Given the description of an element on the screen output the (x, y) to click on. 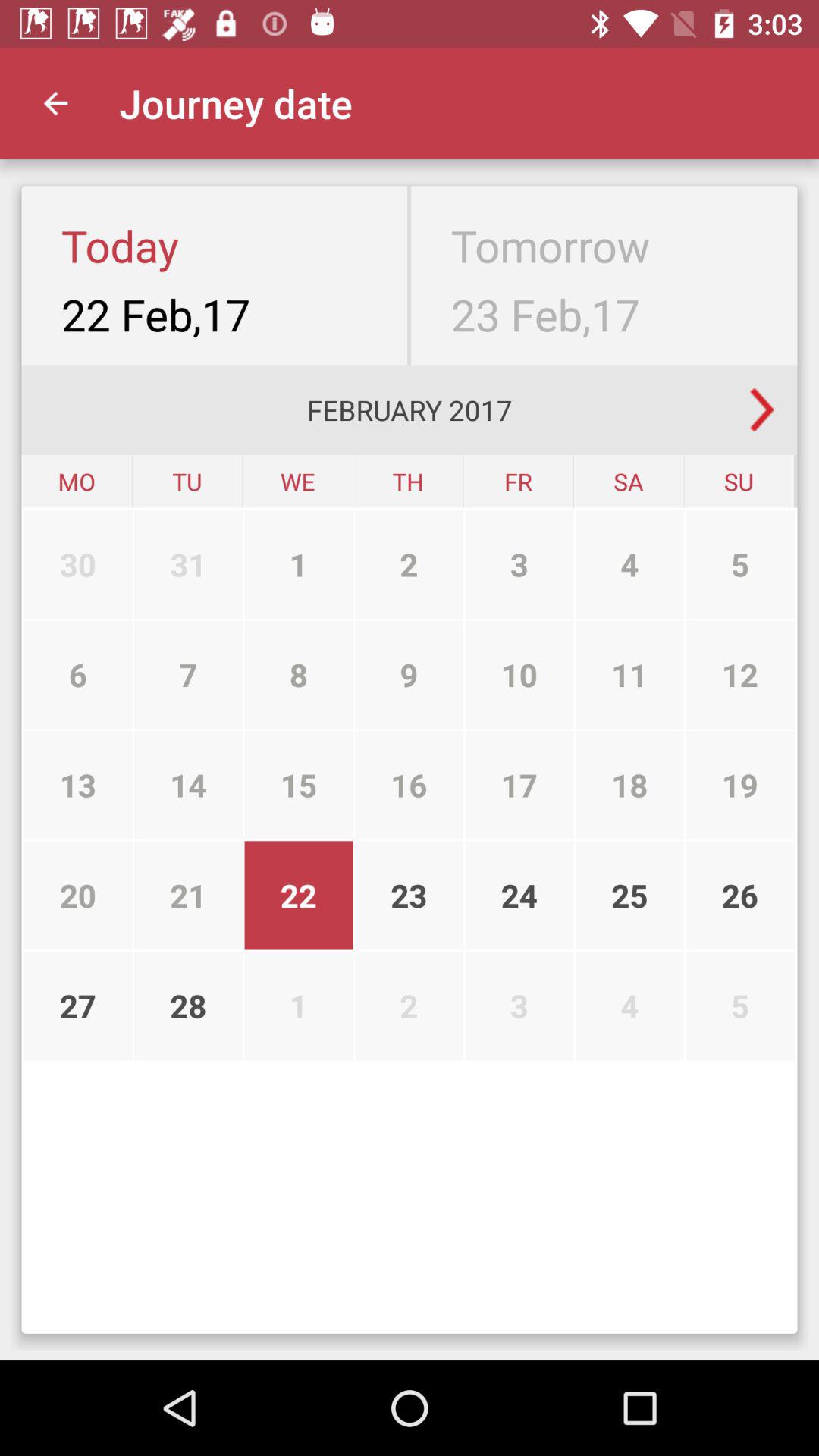
it goes to the next page (762, 410)
